Given the description of an element on the screen output the (x, y) to click on. 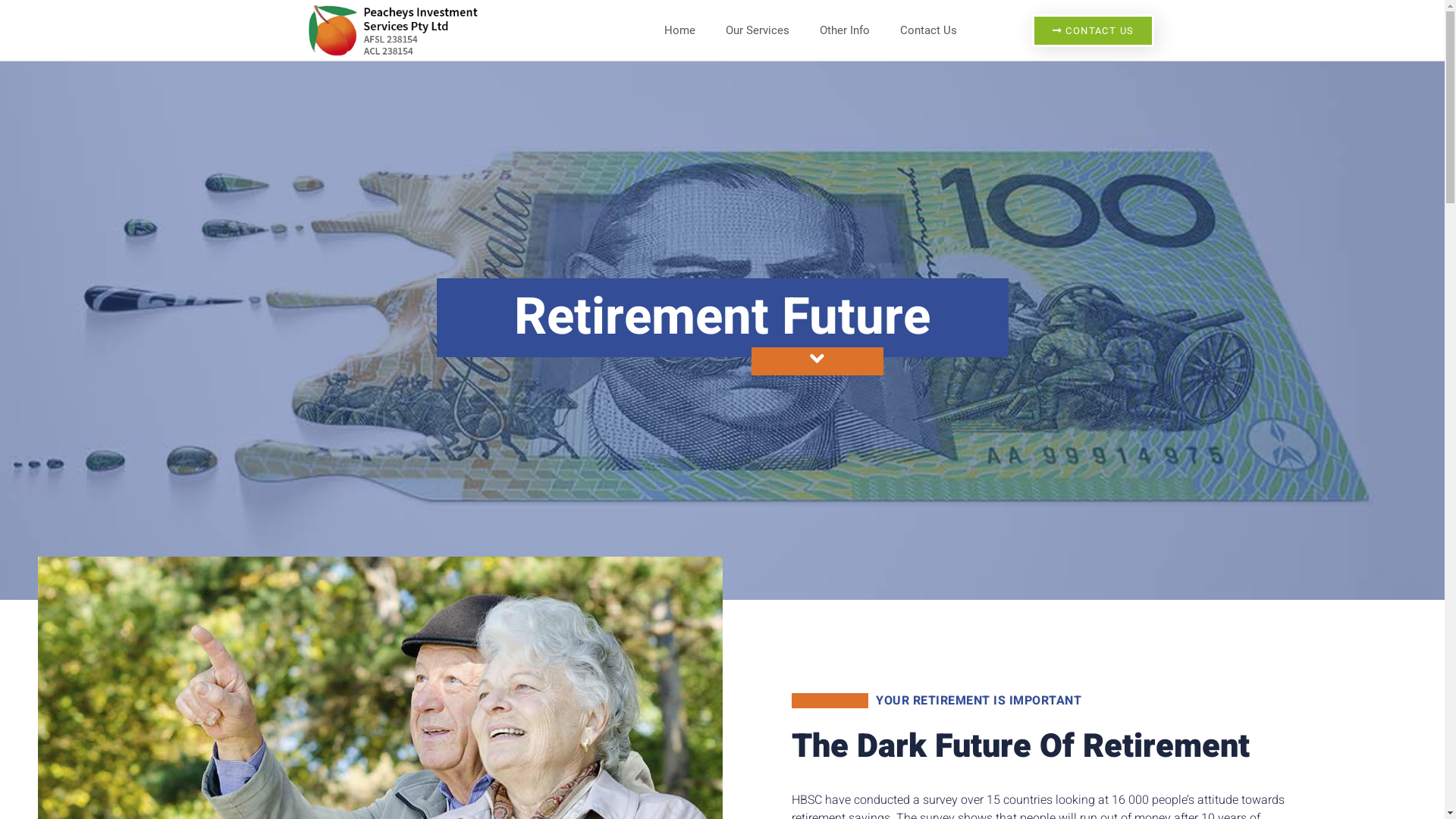
Our Services Element type: text (757, 30)
CONTACT US Element type: text (1093, 29)
Home Element type: text (679, 30)
Other Info Element type: text (844, 30)
Contact Us Element type: text (928, 30)
